Given the description of an element on the screen output the (x, y) to click on. 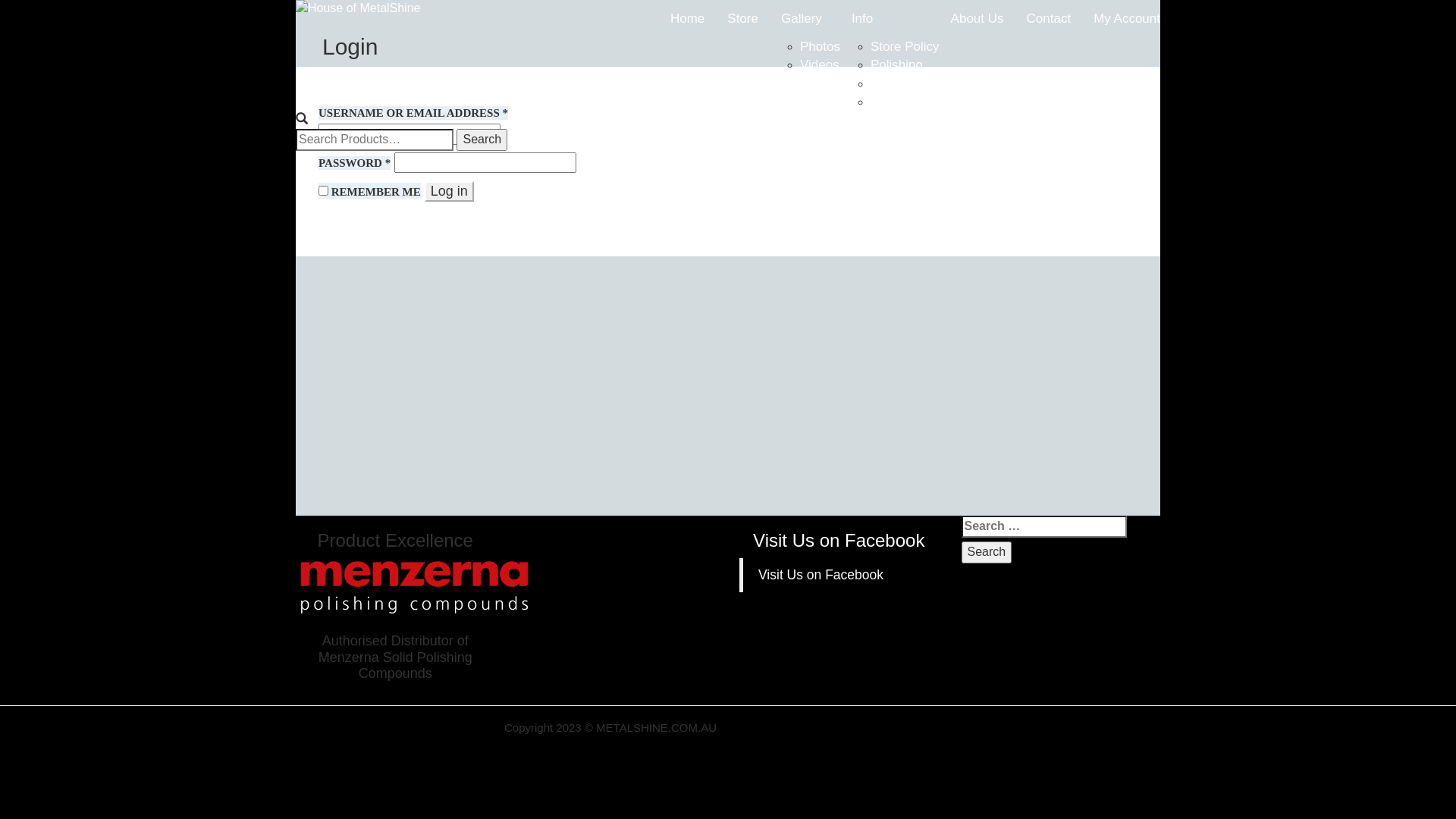
Search Element type: text (986, 552)
Photos Element type: text (820, 46)
Info Element type: text (889, 18)
Log in Element type: text (448, 191)
Gallery Element type: text (804, 18)
Home Element type: text (686, 18)
0 Element type: text (298, 158)
Store Policy Element type: text (904, 46)
Search Element type: text (481, 139)
About Us Element type: text (977, 18)
Lost your password? Element type: text (381, 217)
Search for: Element type: hover (374, 139)
My Account Element type: text (1126, 18)
Contact Element type: text (1048, 18)
Polishing Element type: text (896, 64)
Visit Us on Facebook Element type: text (820, 574)
Videos Element type: text (819, 64)
Visit Us on Facebook Element type: text (838, 540)
FAQs Element type: text (886, 83)
Store Element type: text (742, 18)
Sanding Element type: text (893, 101)
